Given the description of an element on the screen output the (x, y) to click on. 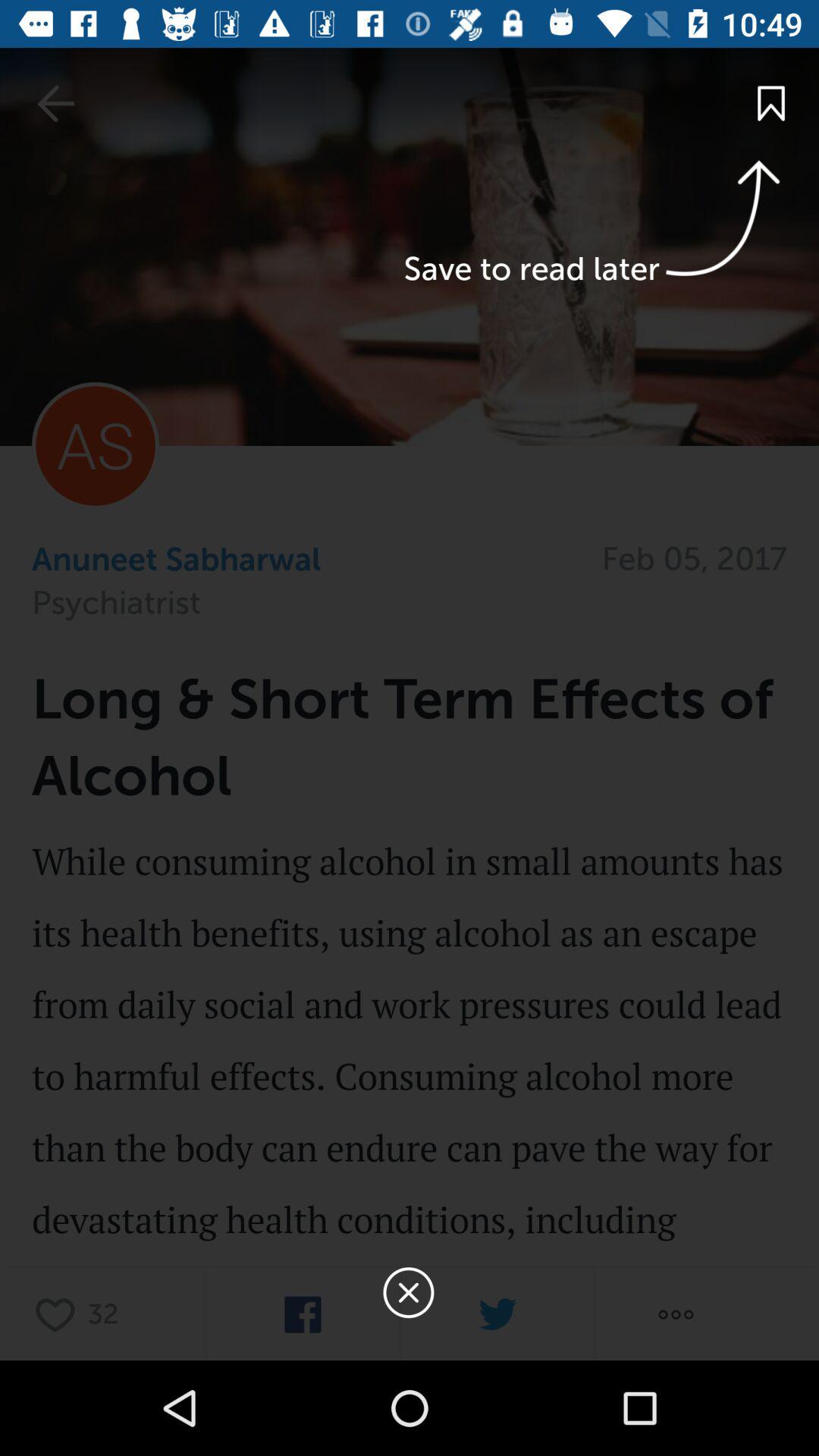
open share menu (675, 1314)
